Given the description of an element on the screen output the (x, y) to click on. 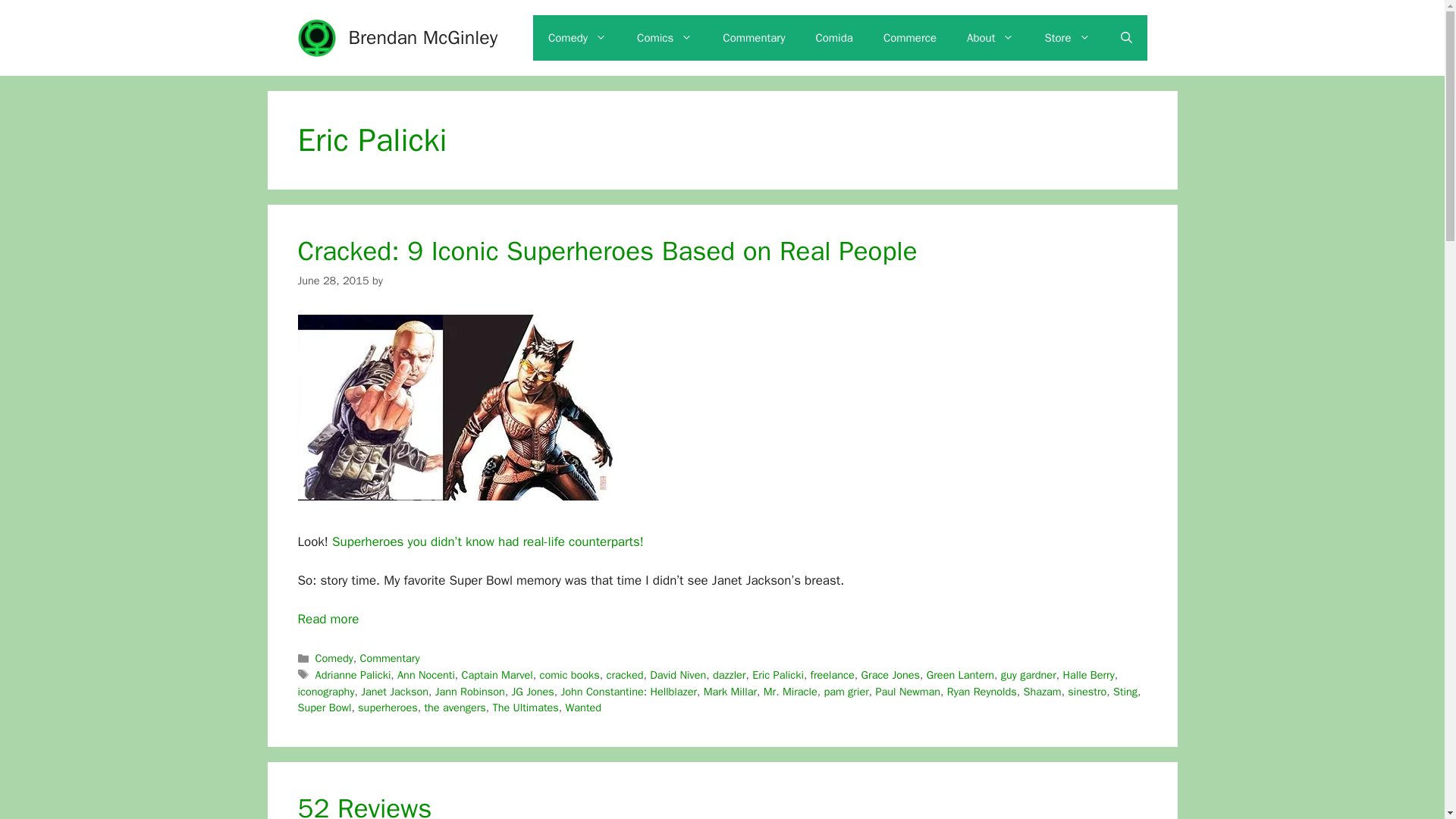
Commerce (909, 37)
Comida (833, 37)
Cracked: 9 Iconic Superheroes Based on Real People (327, 618)
Commentary (753, 37)
Store (1067, 37)
Comics (664, 37)
About (990, 37)
Brendan McGinley (423, 37)
Comedy (576, 37)
